Given the description of an element on the screen output the (x, y) to click on. 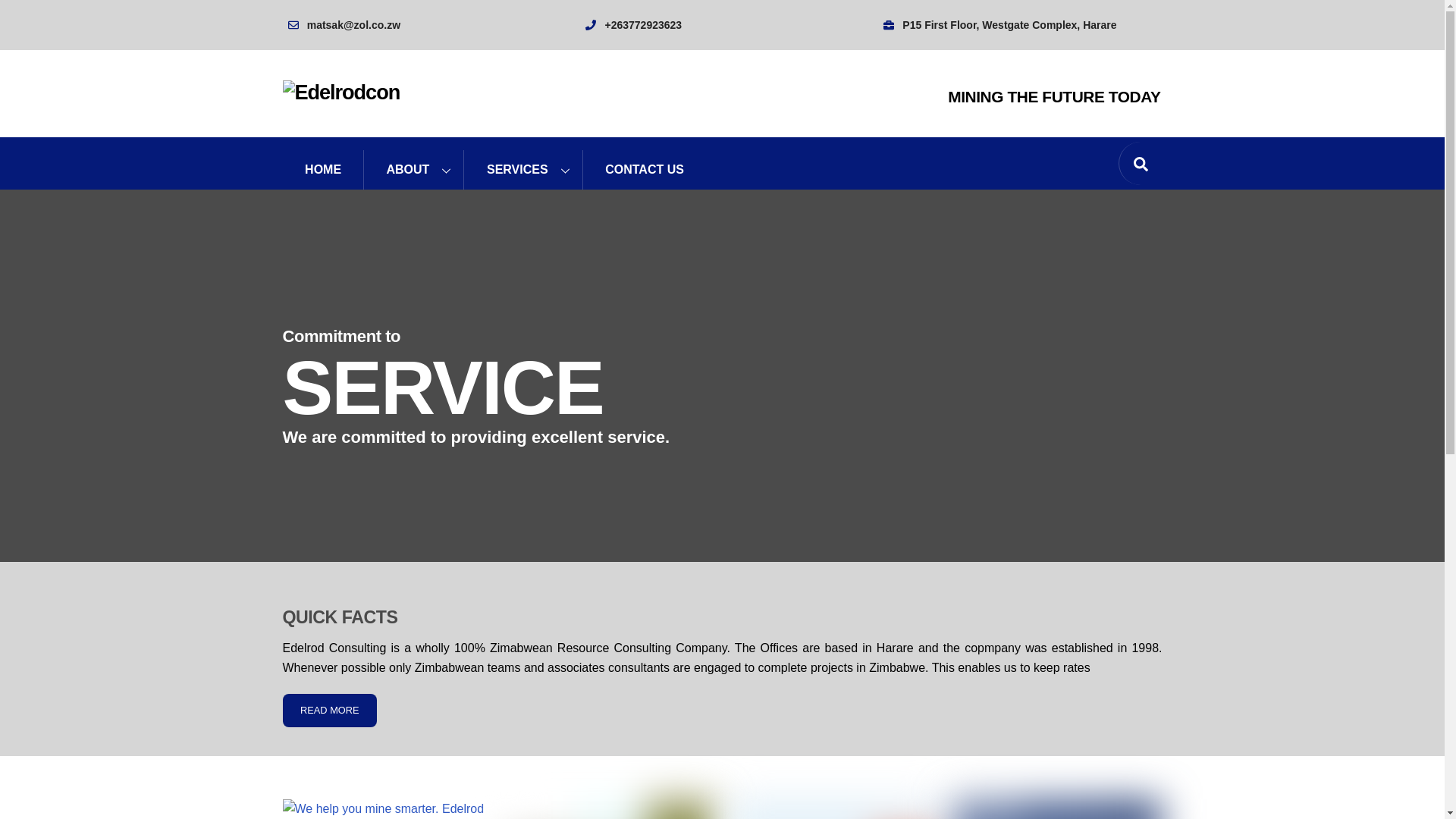
Search (1139, 162)
GEOLOGY (1056, 809)
ABOUT (412, 169)
MINING (387, 809)
HOME (322, 169)
ENVIRONMENT (609, 809)
READ MORE (329, 709)
MULTISPECIALIST SERVICES (834, 809)
Edelrodcon (340, 92)
Edel logo (340, 92)
